Given the description of an element on the screen output the (x, y) to click on. 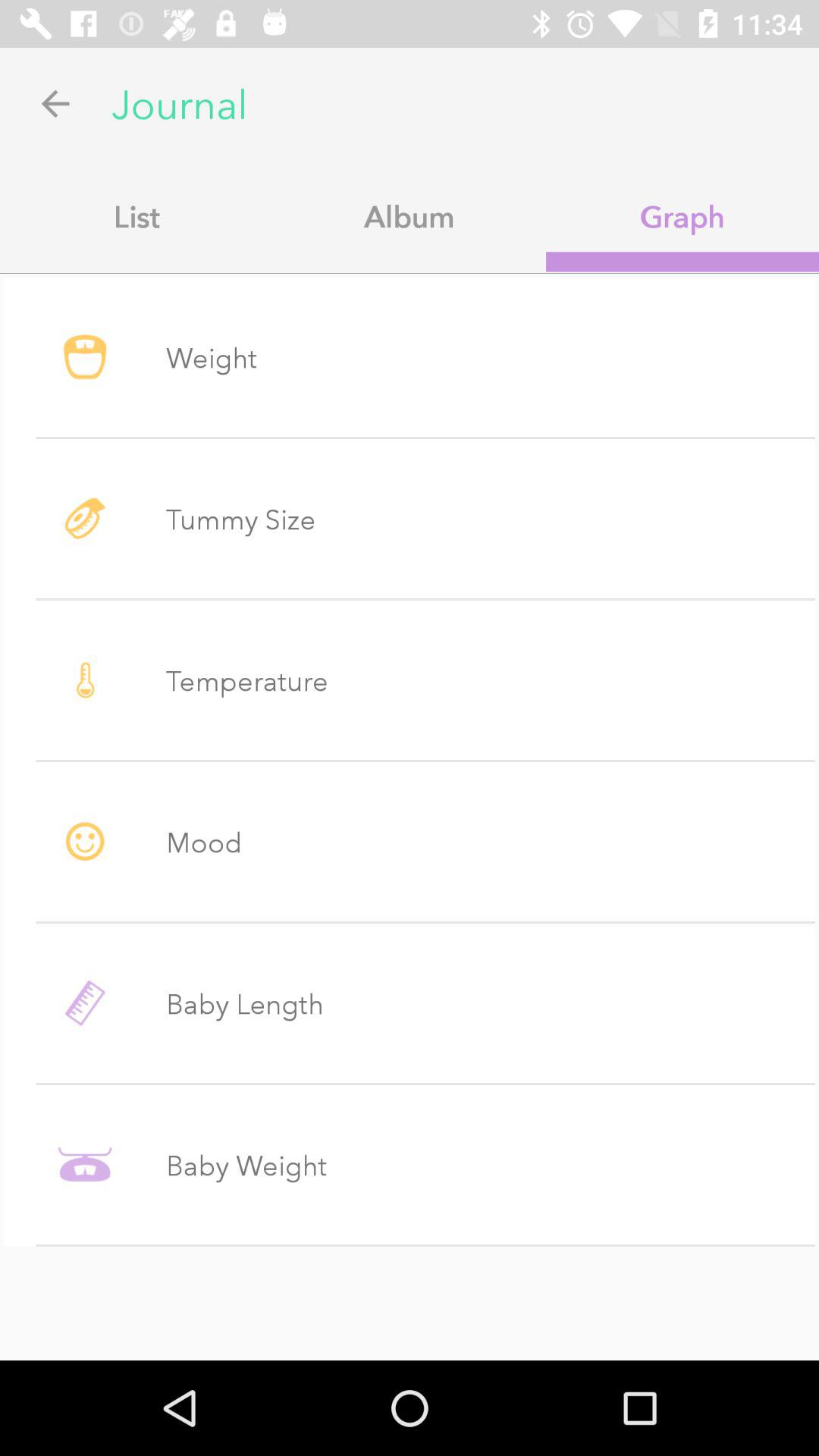
choose app to the left of album (136, 216)
